Given the description of an element on the screen output the (x, y) to click on. 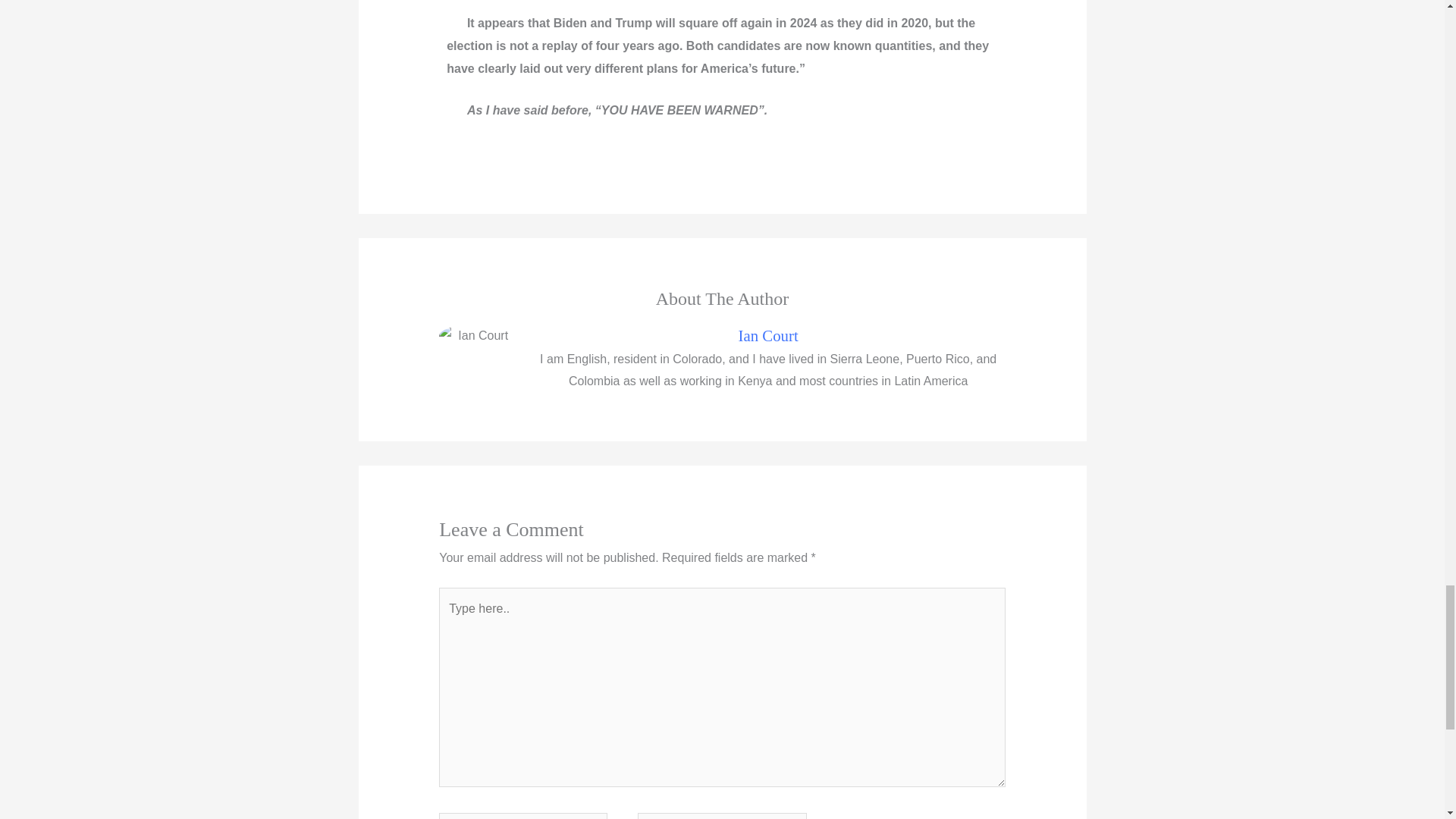
Ian Court (768, 335)
